Given the description of an element on the screen output the (x, y) to click on. 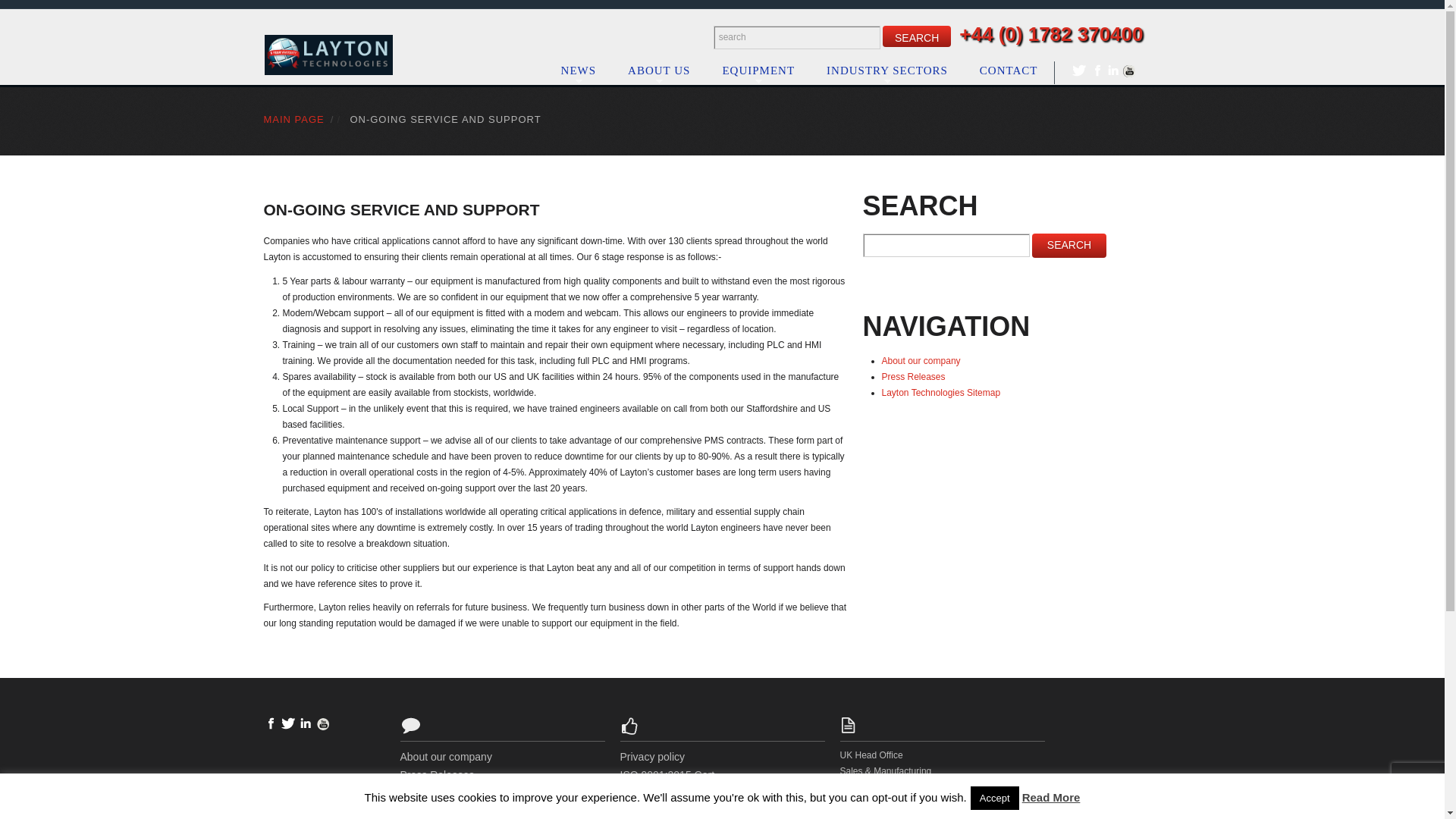
SEARCH (916, 35)
youtube (1128, 70)
SEARCH (916, 35)
linkedin (1112, 70)
facebook (1096, 70)
search (1069, 245)
search (1069, 245)
SEARCH (916, 35)
CONTACT (1008, 69)
